Given the description of an element on the screen output the (x, y) to click on. 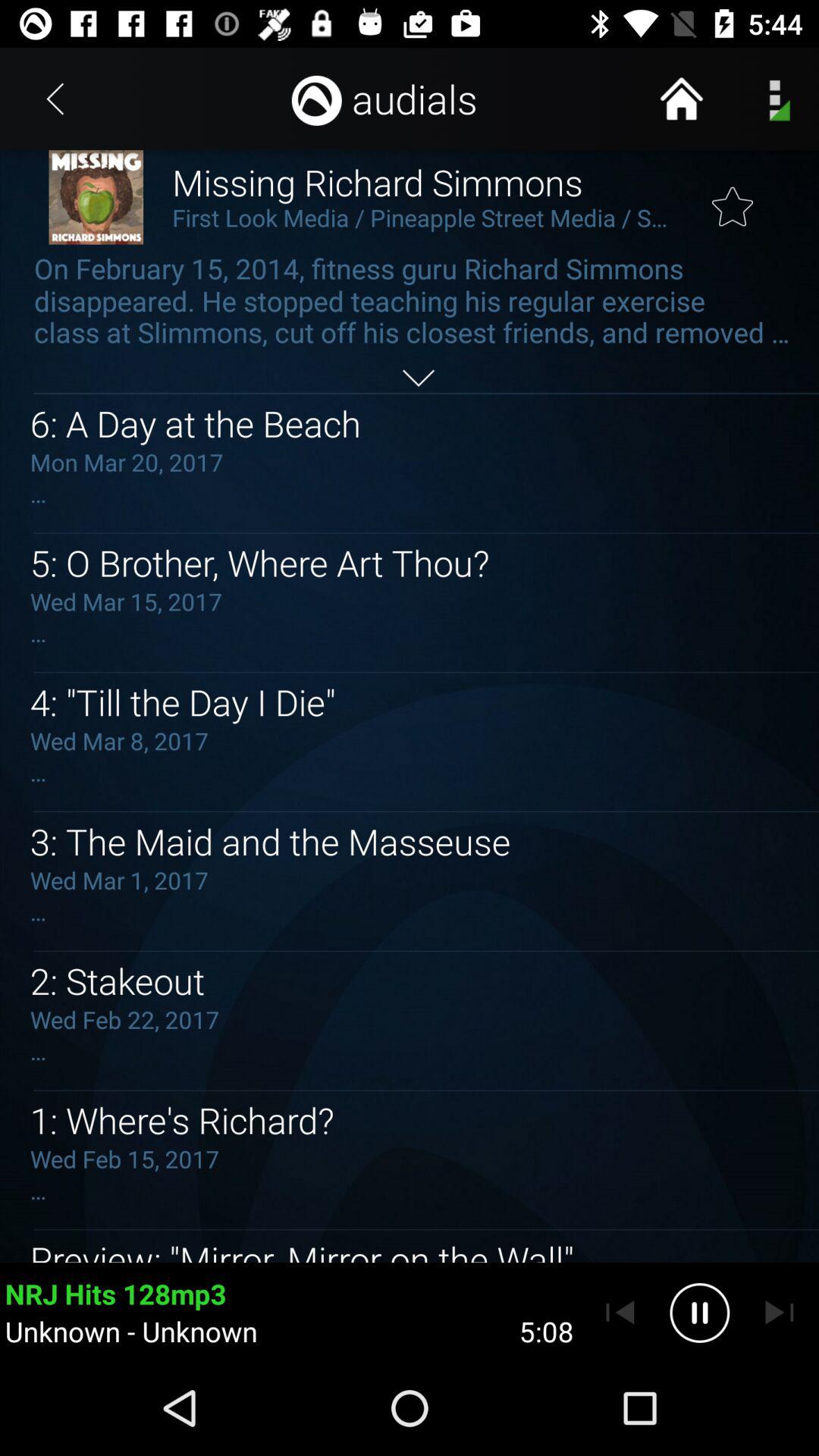
display more info about missing richard simmons (418, 378)
